Given the description of an element on the screen output the (x, y) to click on. 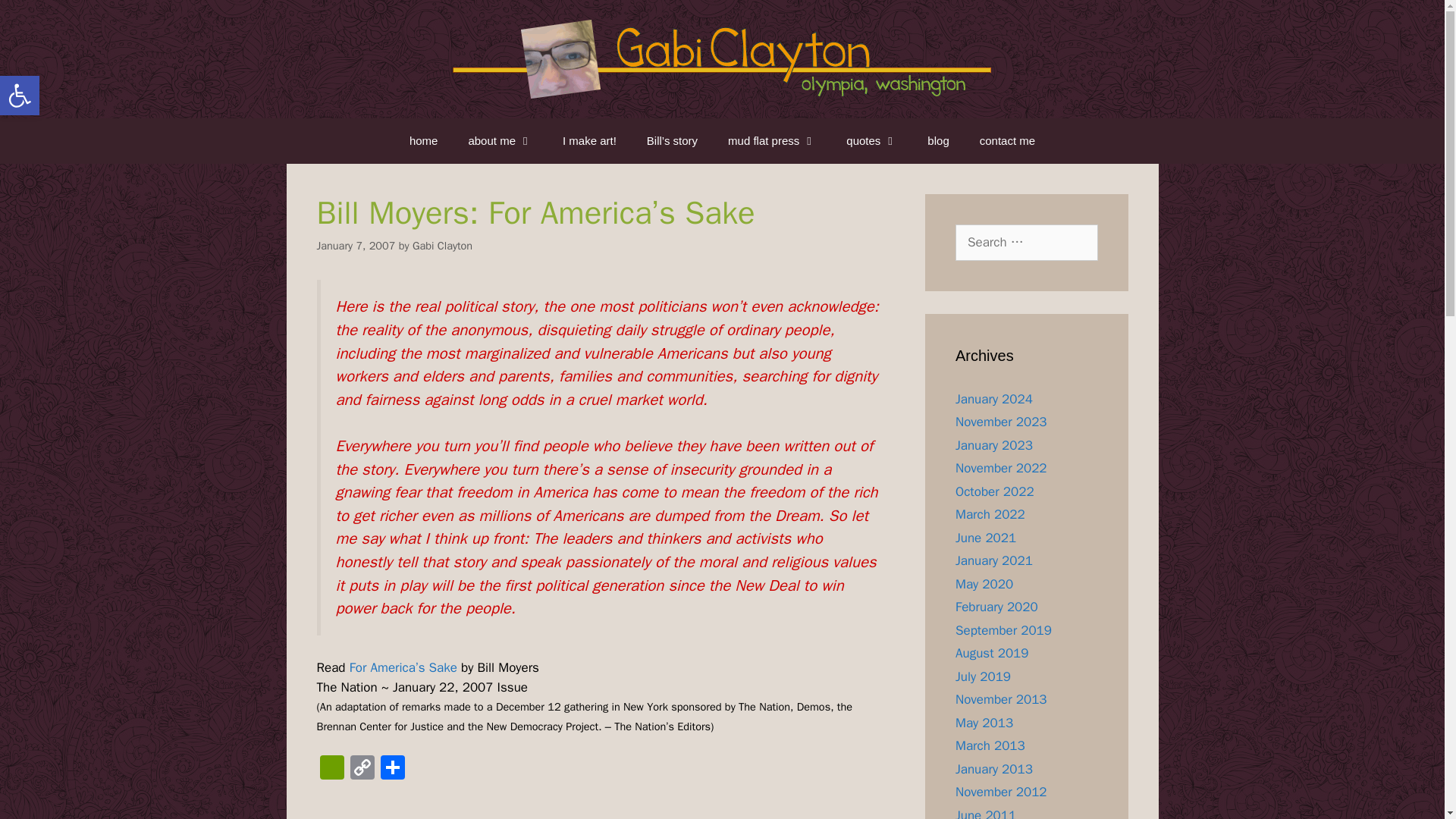
home (423, 140)
PrintFriendly (332, 769)
blog (937, 140)
Copy Link (19, 95)
Copy Link (362, 769)
I make art! (362, 769)
Gabi Clayton (589, 140)
mud flat press (441, 245)
Search for: (772, 140)
